Given the description of an element on the screen output the (x, y) to click on. 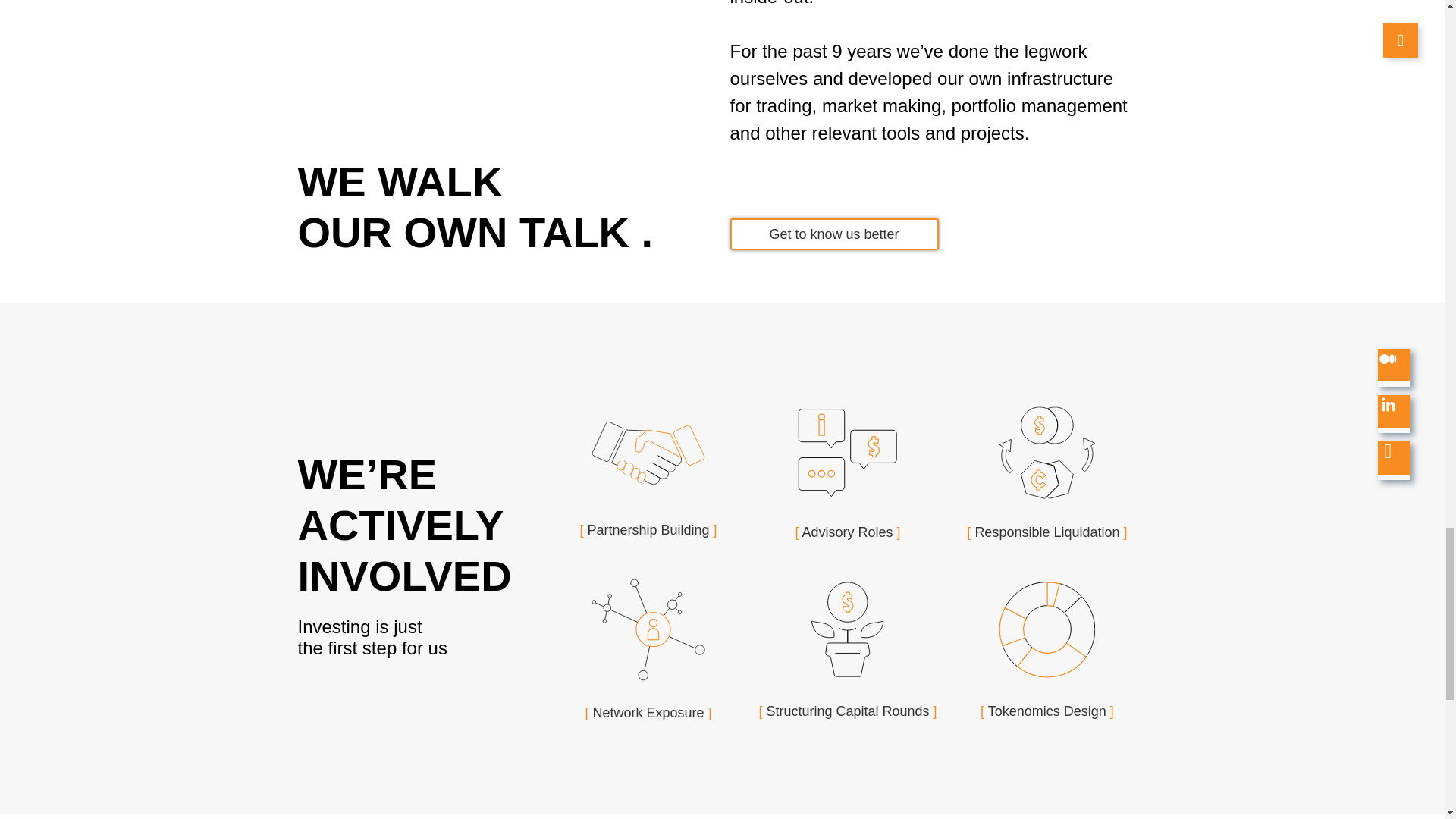
Get to know us better (833, 234)
